Given the description of an element on the screen output the (x, y) to click on. 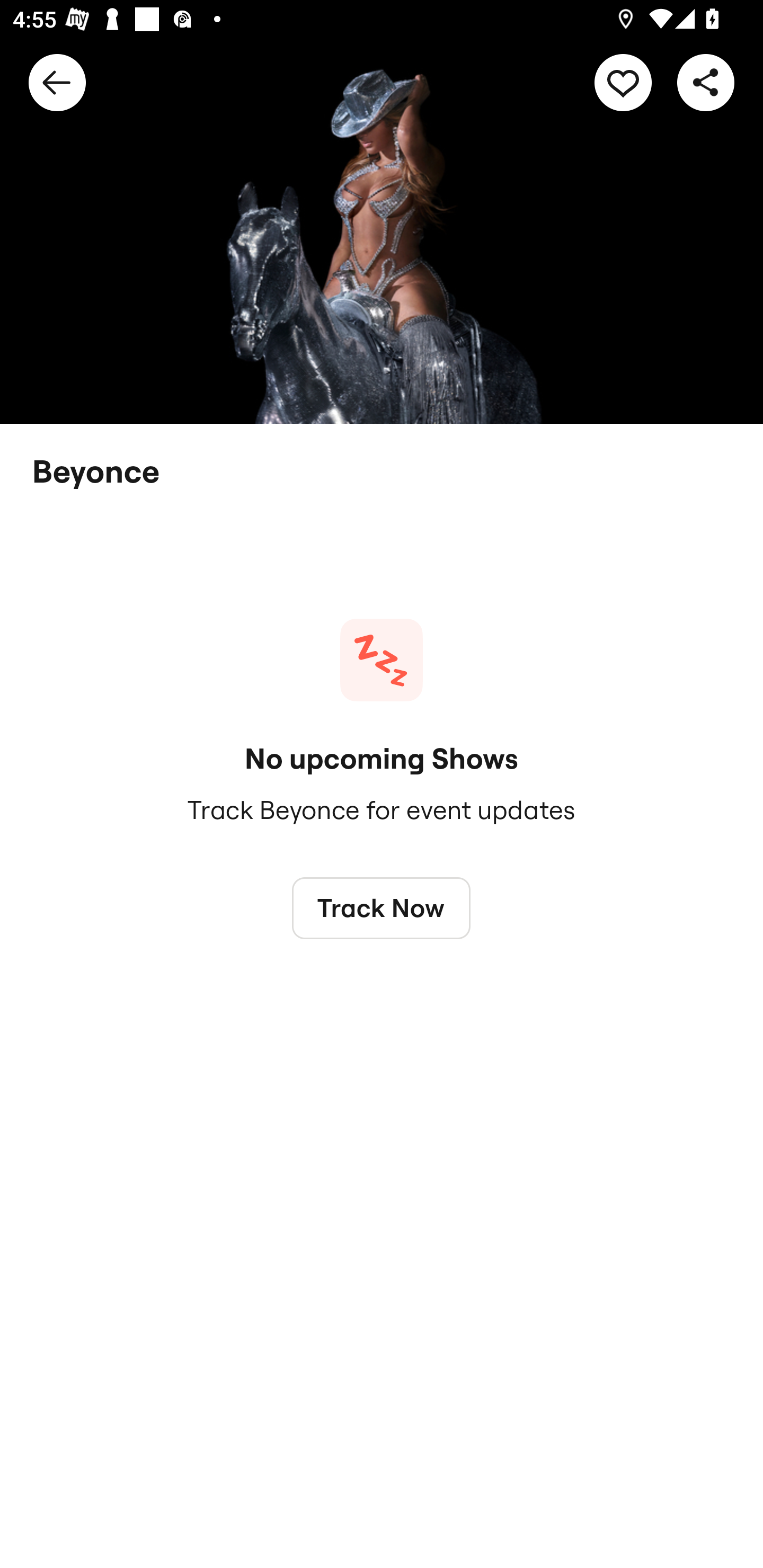
Back (57, 81)
Track this performer (623, 81)
Share this performer (705, 81)
Track Now (381, 907)
